Given the description of an element on the screen output the (x, y) to click on. 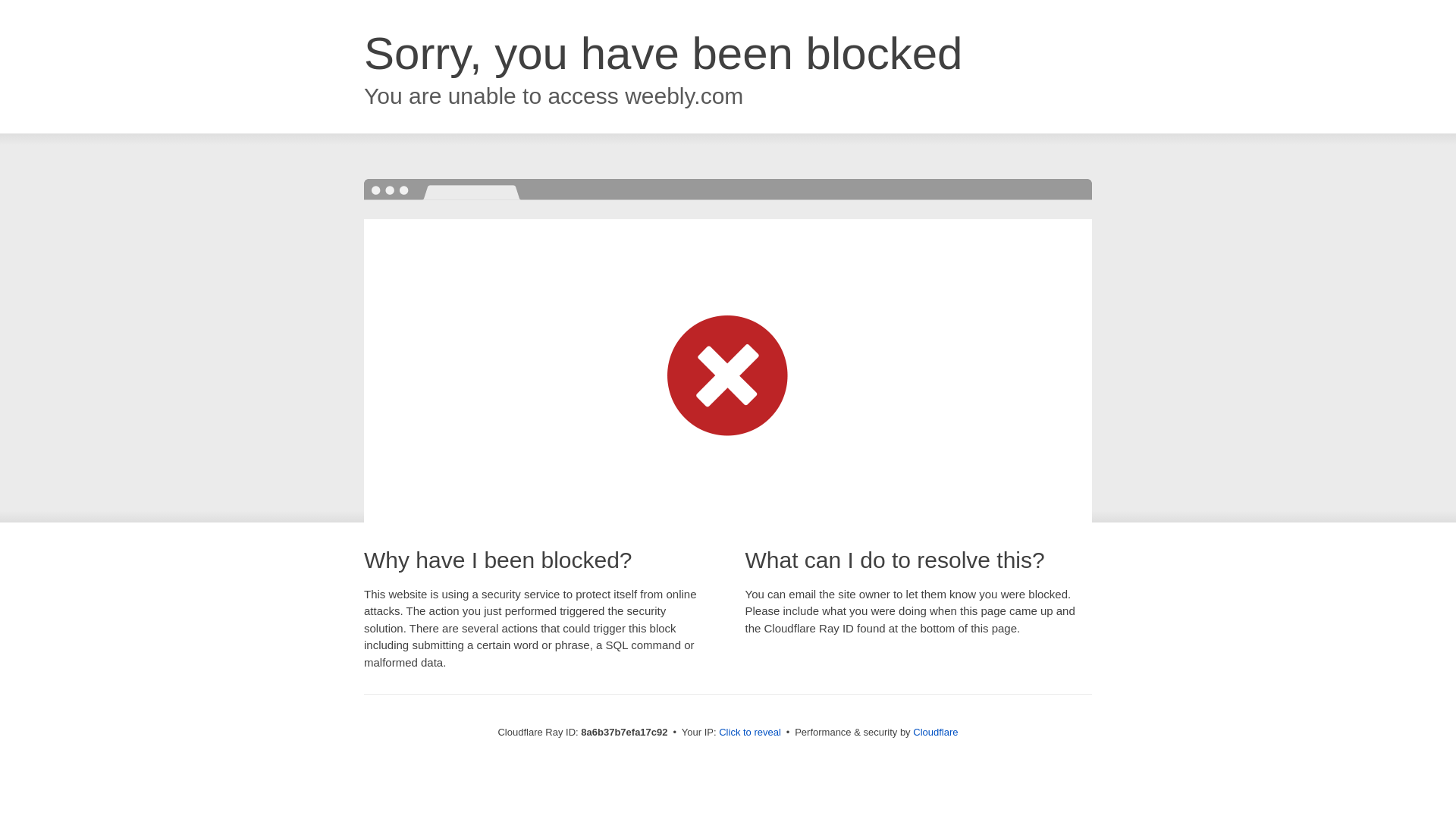
Click to reveal (749, 732)
Cloudflare (935, 731)
